Given the description of an element on the screen output the (x, y) to click on. 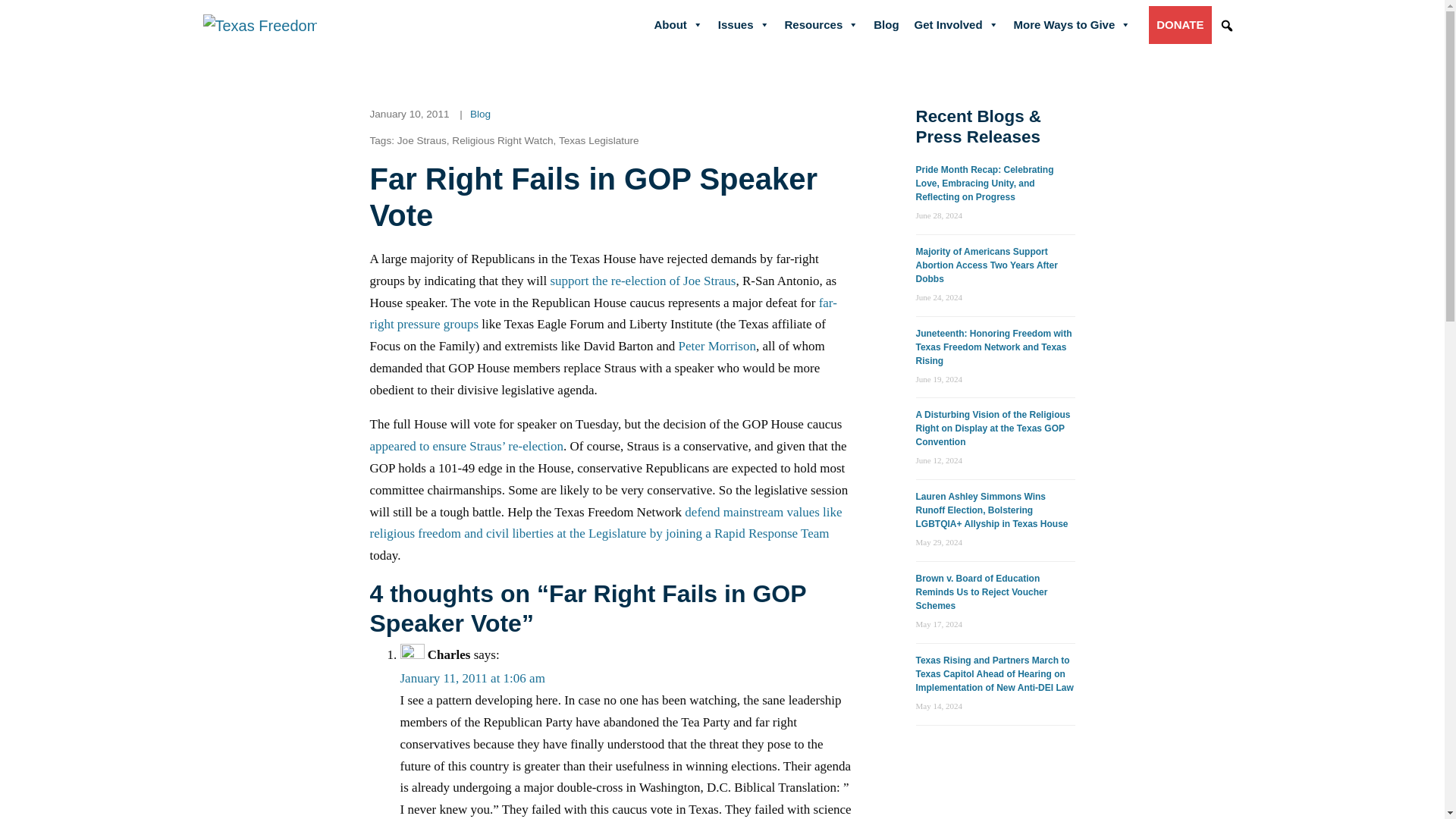
More Ways to Give (1072, 24)
About (678, 24)
Blog (885, 24)
Resources (821, 24)
Get Involved (956, 24)
Issues (743, 24)
